Given the description of an element on the screen output the (x, y) to click on. 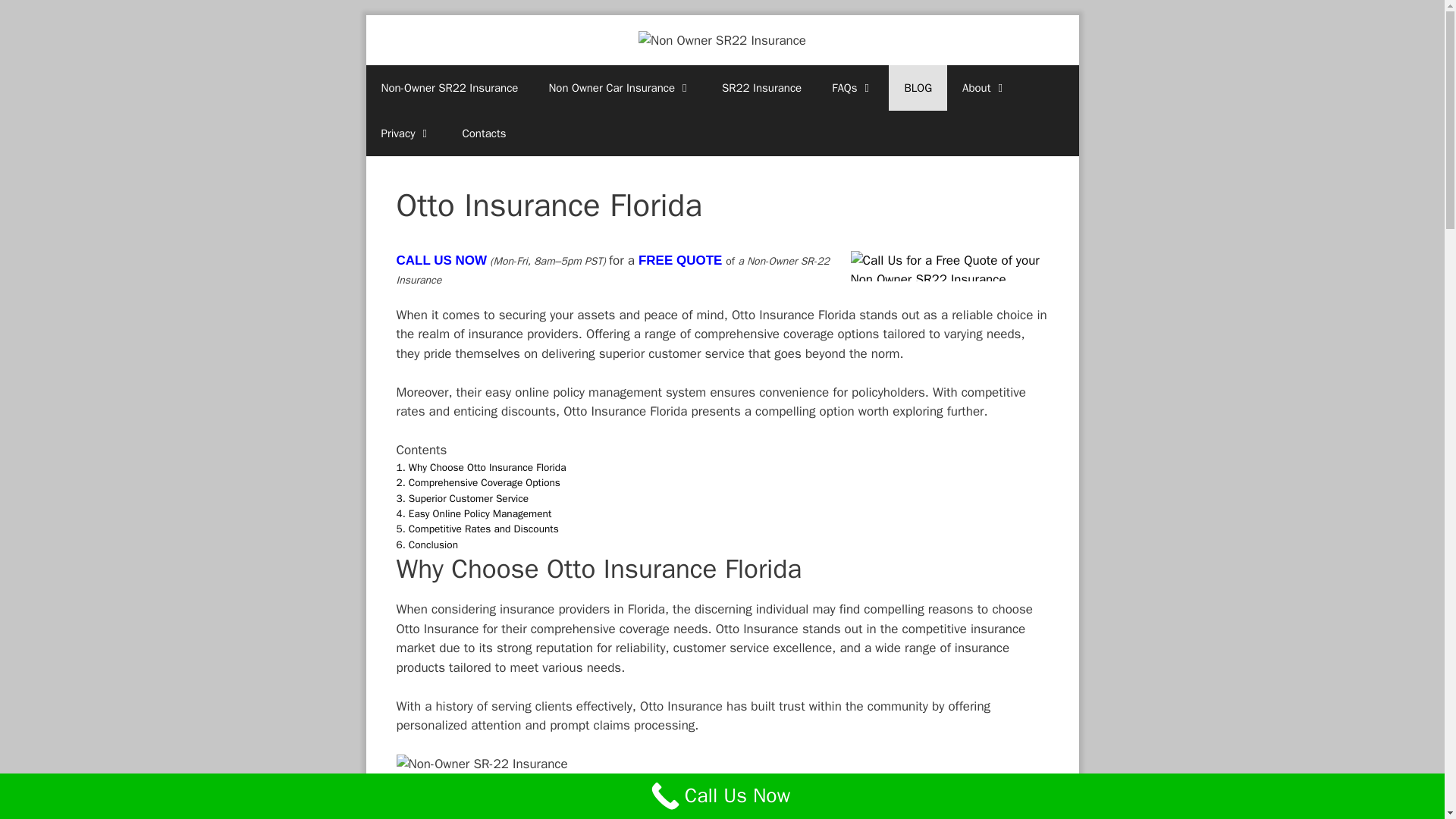
BLOG (917, 87)
1. Why Choose Otto Insurance Florida (481, 467)
2. Comprehensive Coverage Options (477, 481)
4. Easy Online Policy Management (473, 513)
Privacy (405, 133)
SR22 Insurance (761, 87)
6. Conclusion (426, 544)
Contacts (483, 133)
Non Owner Car Insurance (619, 87)
FAQs (852, 87)
